Given the description of an element on the screen output the (x, y) to click on. 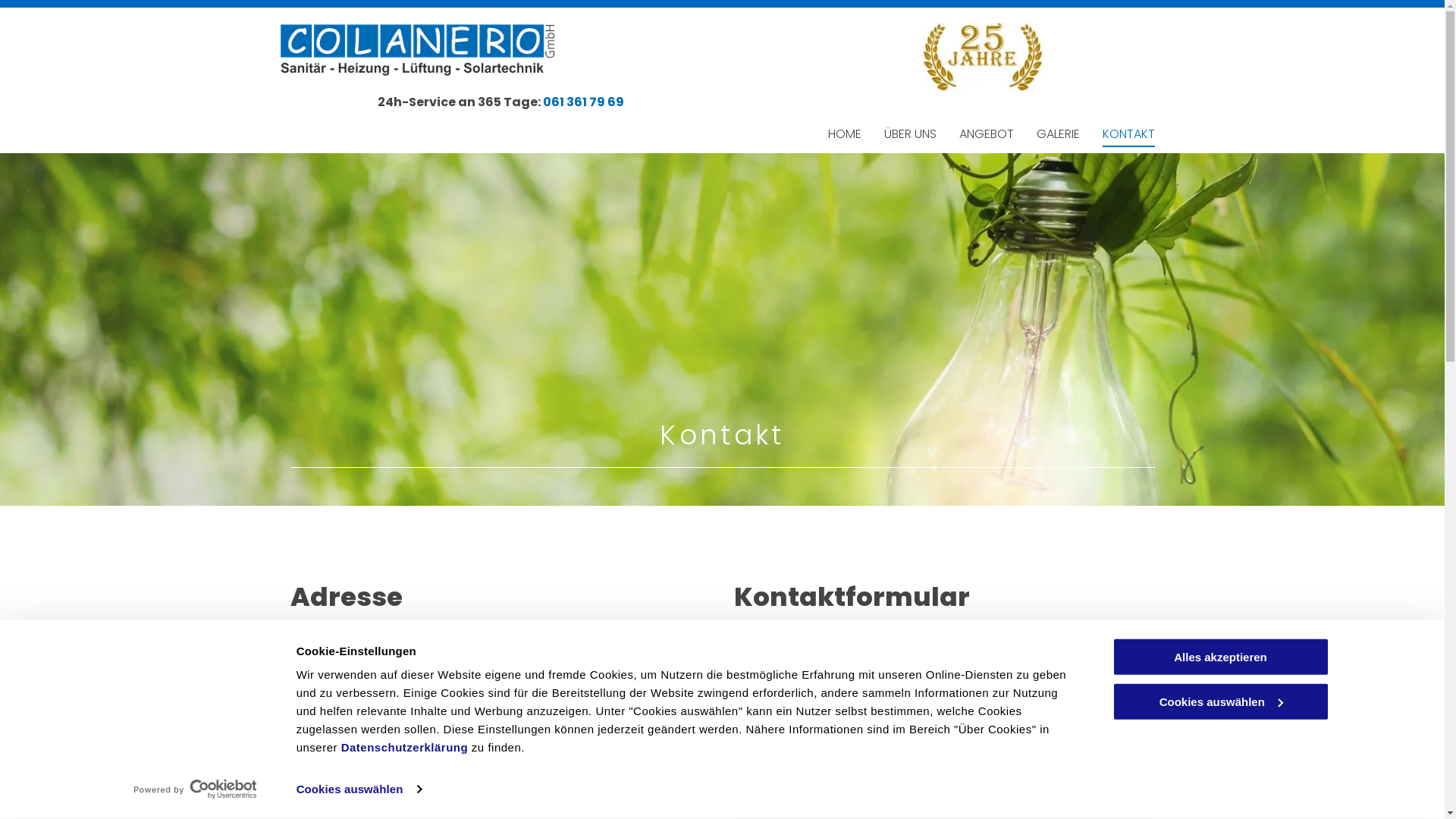
GALERIE Element type: text (1057, 134)
Alles akzeptieren Element type: text (1219, 656)
kontakt@colanero.ch Element type: text (368, 794)
079 390 77 06 Element type: text (345, 766)
061 361 79 69 Element type: text (583, 101)
KONTAKT Element type: text (1128, 134)
HOME Element type: text (844, 134)
061 361 79 69 Element type: text (340, 739)
ANGEBOT Element type: text (985, 134)
